Given the description of an element on the screen output the (x, y) to click on. 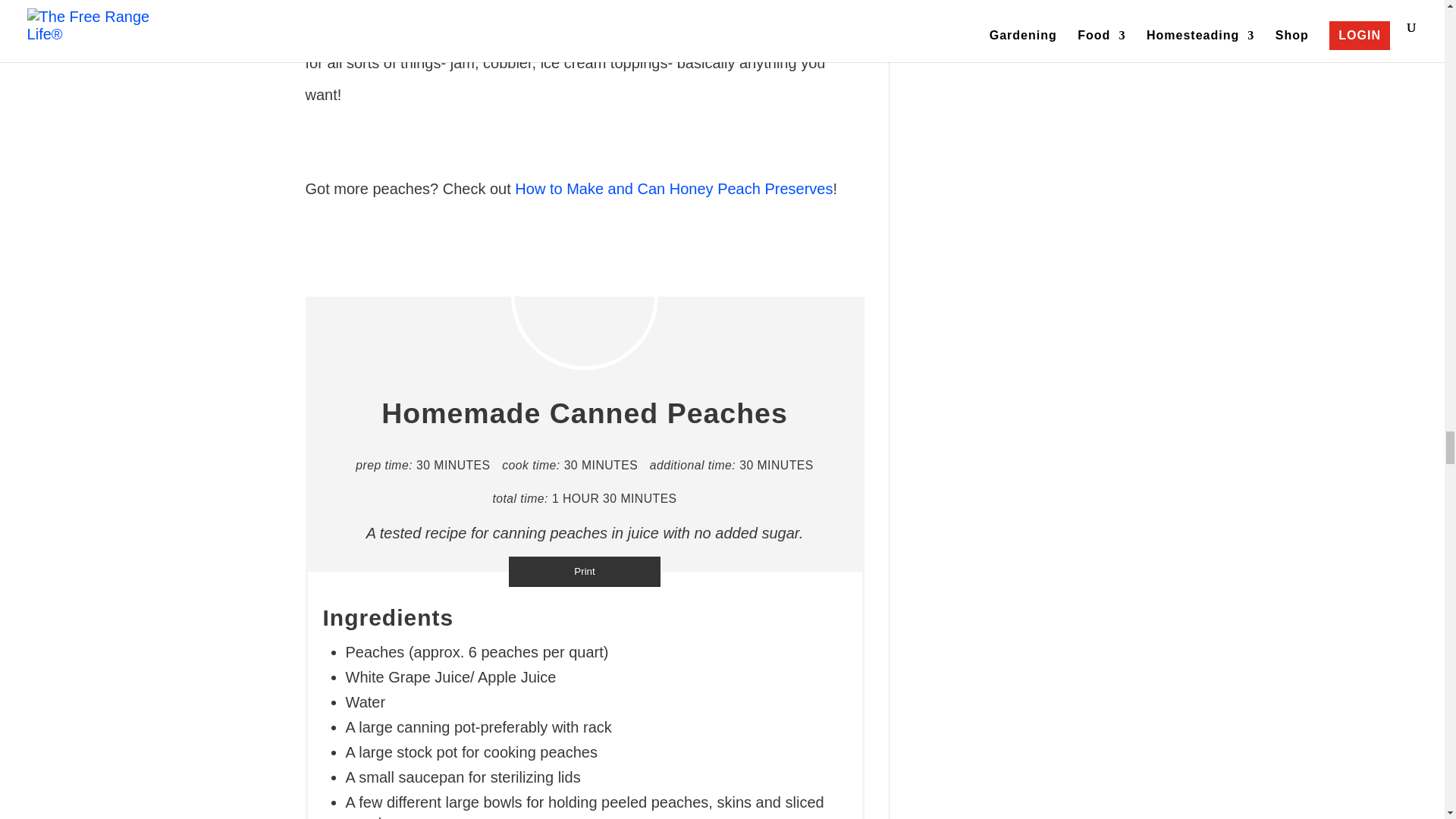
How to Make and Can Honey Peach Preserves (671, 188)
Print (584, 571)
